Given the description of an element on the screen output the (x, y) to click on. 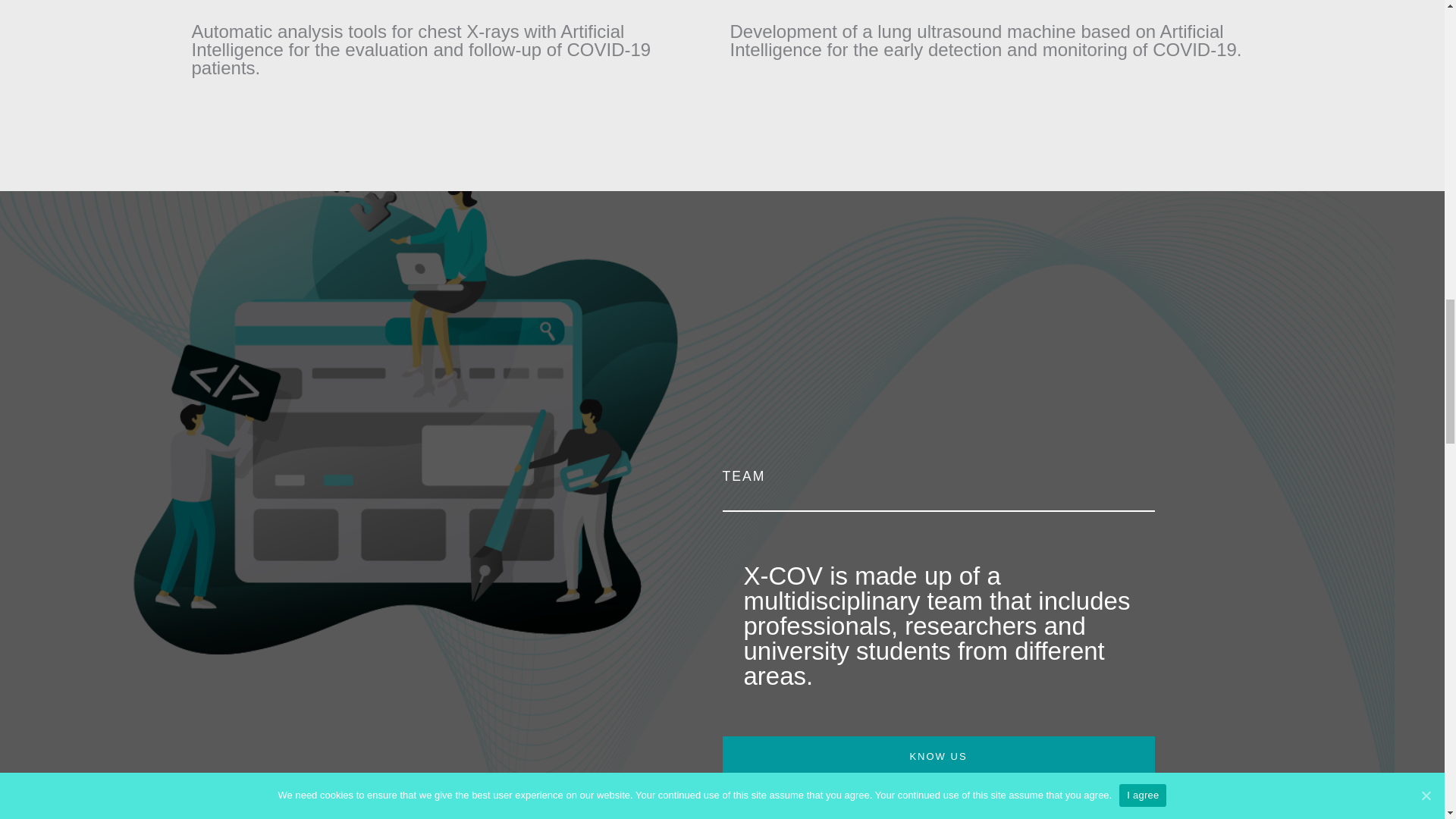
KNOW US (938, 756)
